Given the description of an element on the screen output the (x, y) to click on. 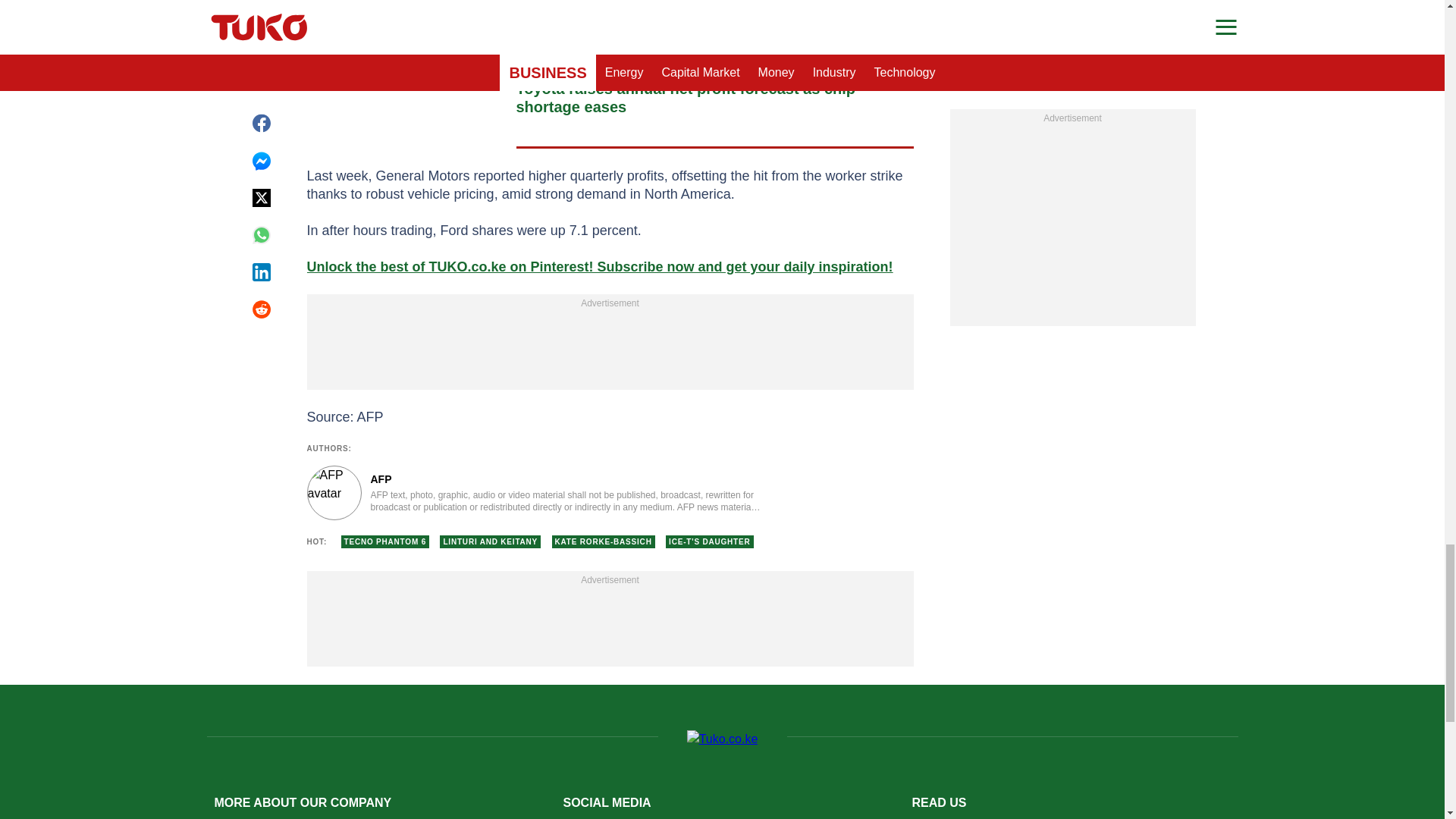
Author page (533, 493)
